Given the description of an element on the screen output the (x, y) to click on. 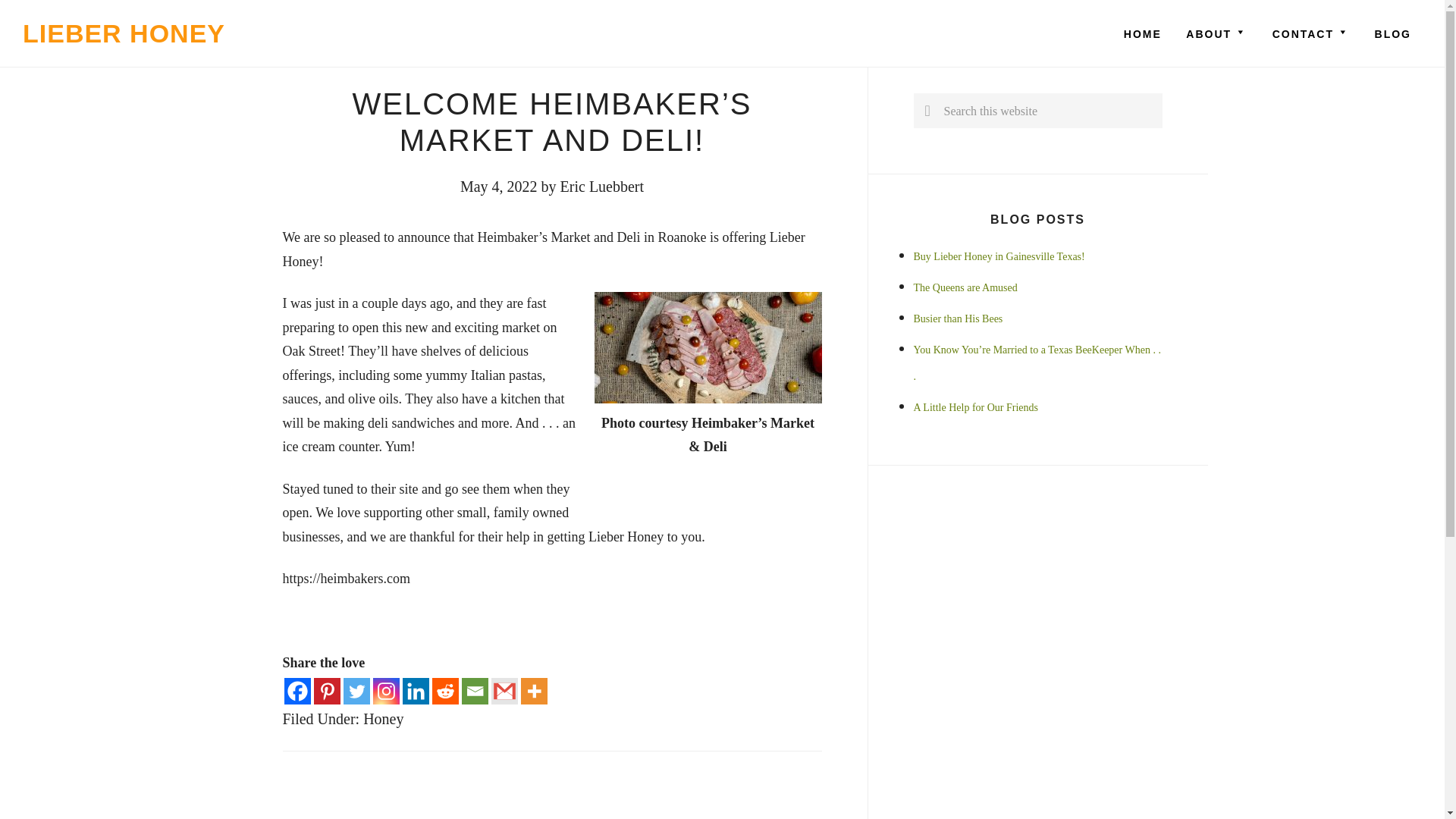
Busier than His Bees (957, 318)
The Queens are Amused (964, 287)
Honey (382, 718)
Twitter (355, 691)
Buy Lieber Honey in Gainesville Texas! (998, 256)
BLOG (1393, 33)
Linkedin (414, 691)
HOME (1142, 33)
Instagram (385, 691)
